Given the description of an element on the screen output the (x, y) to click on. 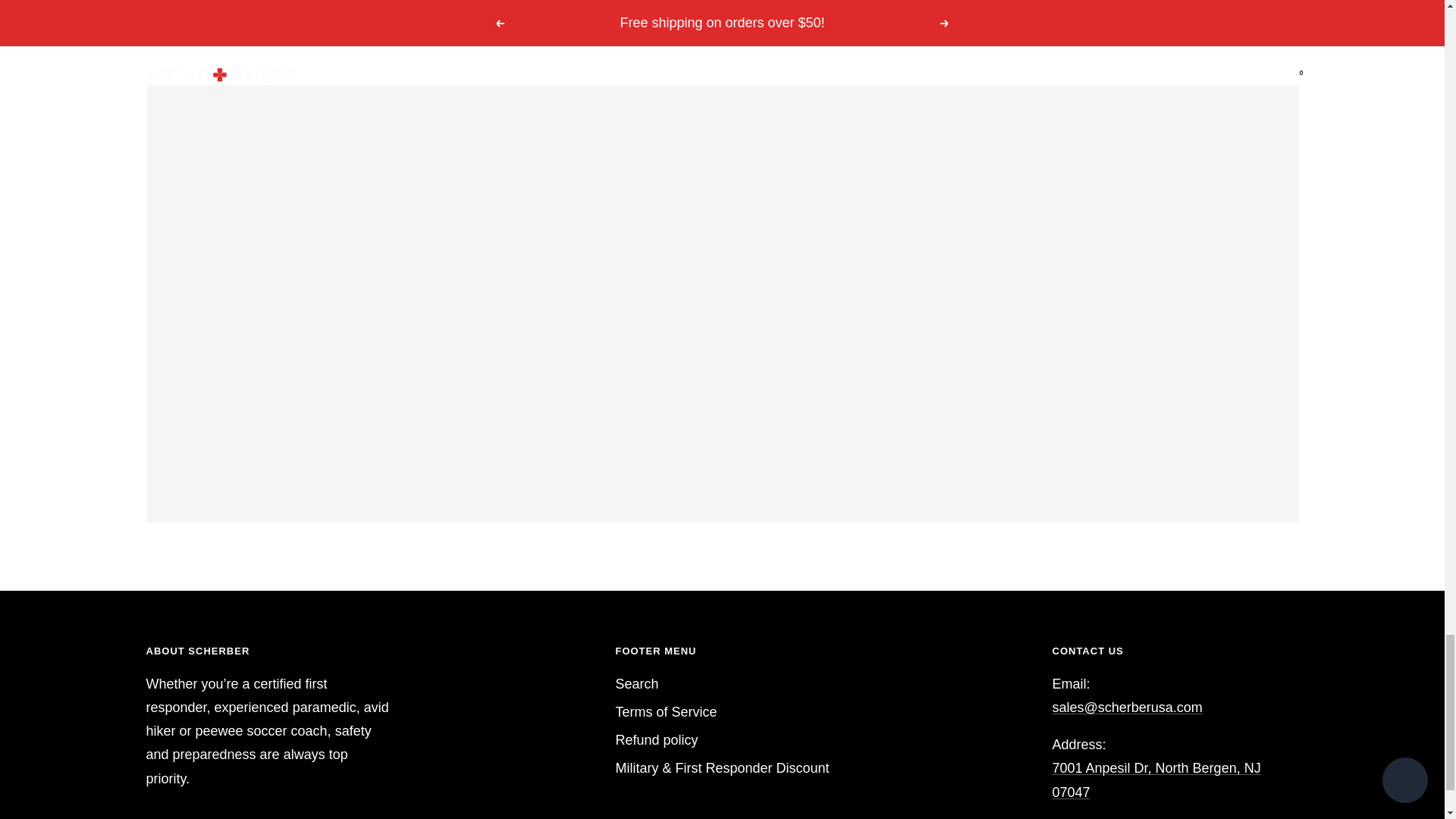
Previous (463, 8)
Address (1156, 779)
Next (505, 8)
